Given the description of an element on the screen output the (x, y) to click on. 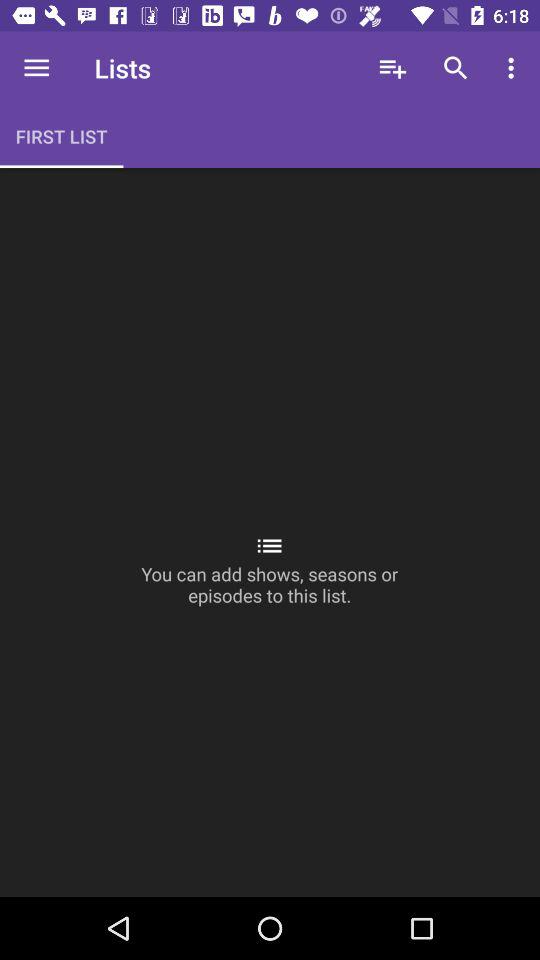
click icon above the first list icon (36, 68)
